Given the description of an element on the screen output the (x, y) to click on. 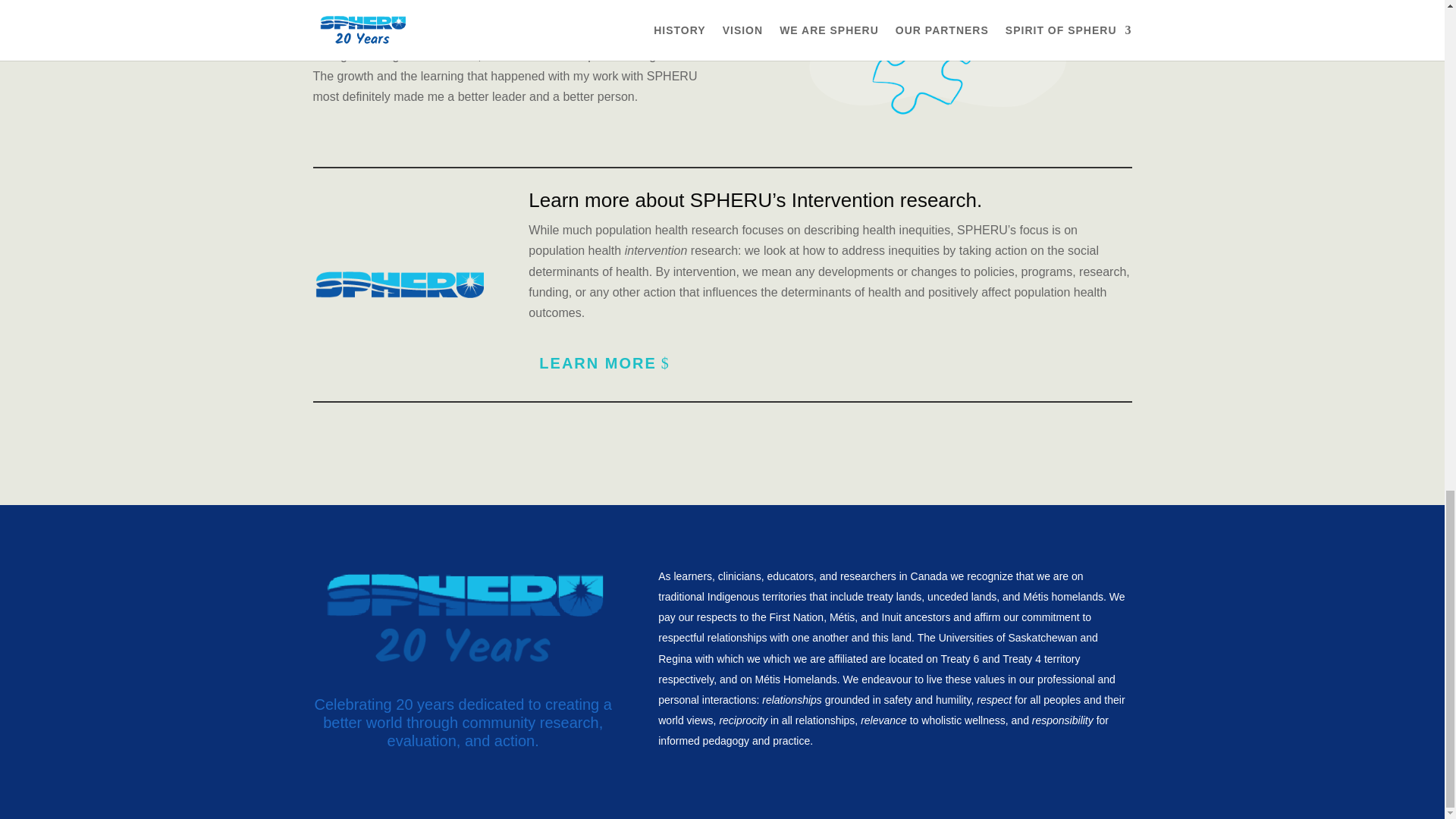
LEARN MORE (606, 362)
spheru-logo (398, 284)
3 (937, 73)
New 20 years logo-35 (462, 619)
